Given the description of an element on the screen output the (x, y) to click on. 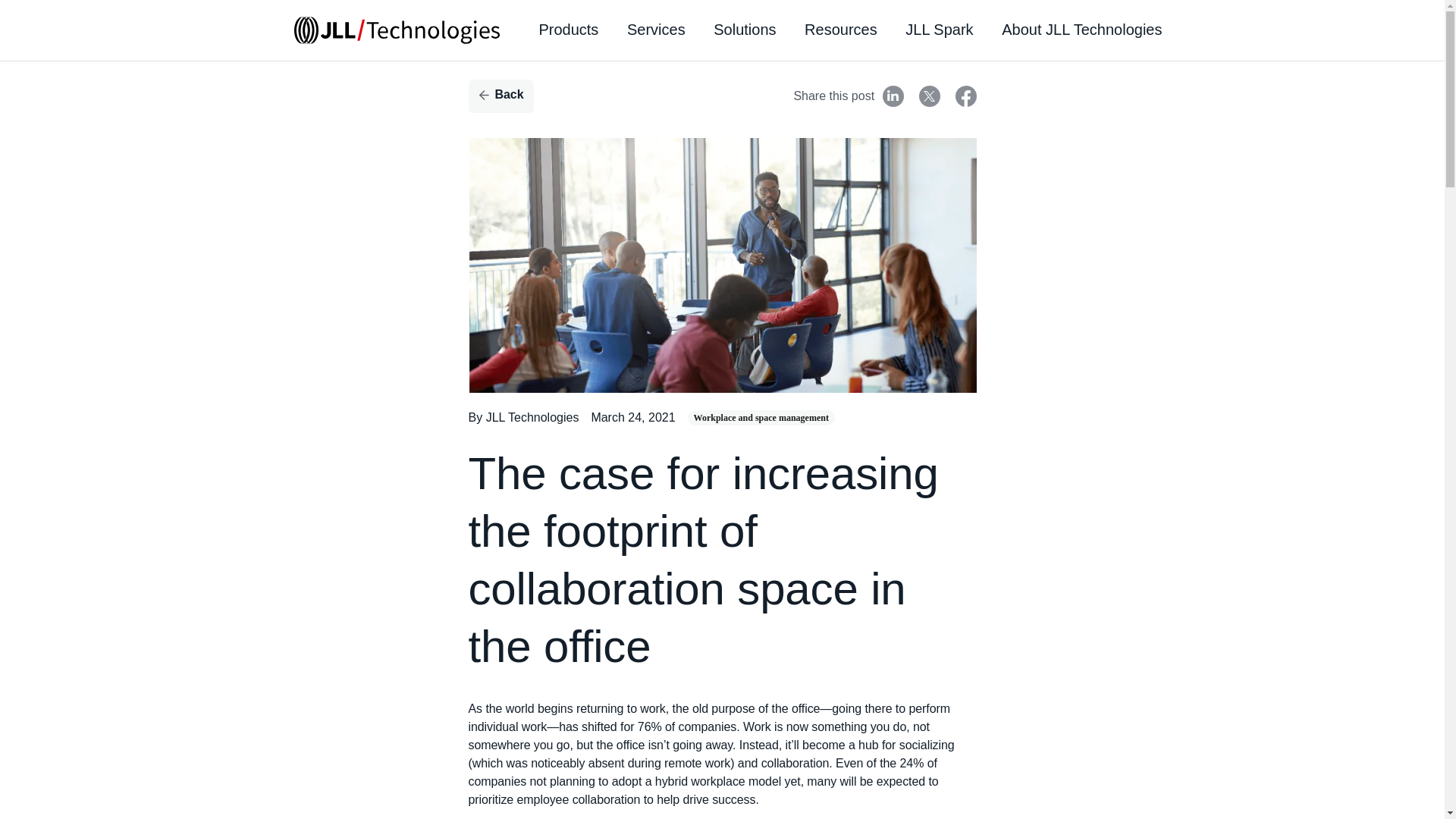
Products (568, 30)
Services (656, 30)
Solutions (744, 30)
Products (568, 30)
